Given the description of an element on the screen output the (x, y) to click on. 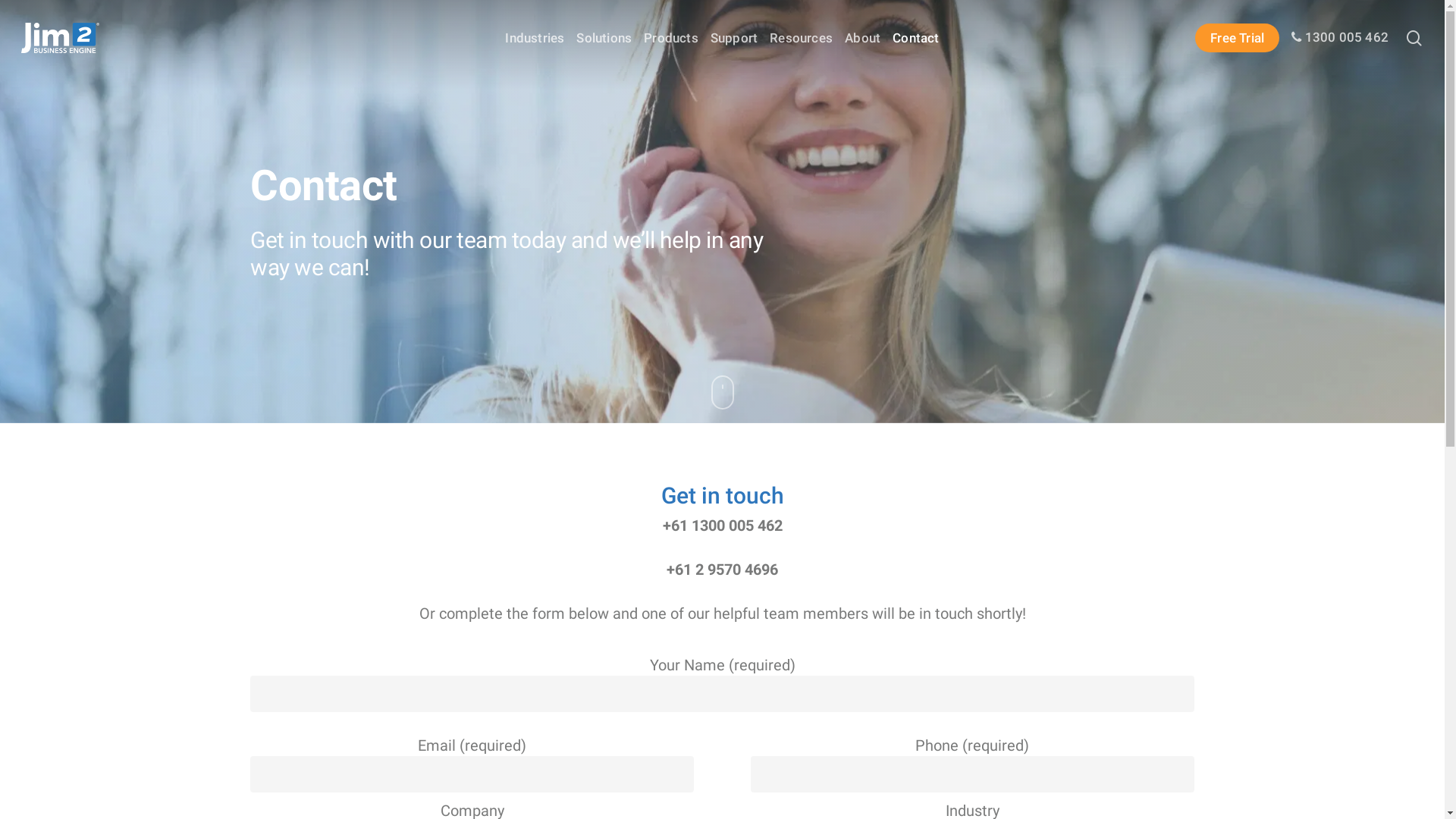
Free Trial Element type: text (1237, 37)
Resources Element type: text (800, 37)
Navigate to the next section Element type: text (721, 402)
About Element type: text (862, 37)
Industries Element type: text (534, 37)
Products Element type: text (670, 37)
1300 005 462 Element type: text (1339, 37)
Solutions Element type: text (603, 37)
Support Element type: text (733, 37)
search Element type: text (1414, 38)
Contact Element type: text (915, 37)
